Given the description of an element on the screen output the (x, y) to click on. 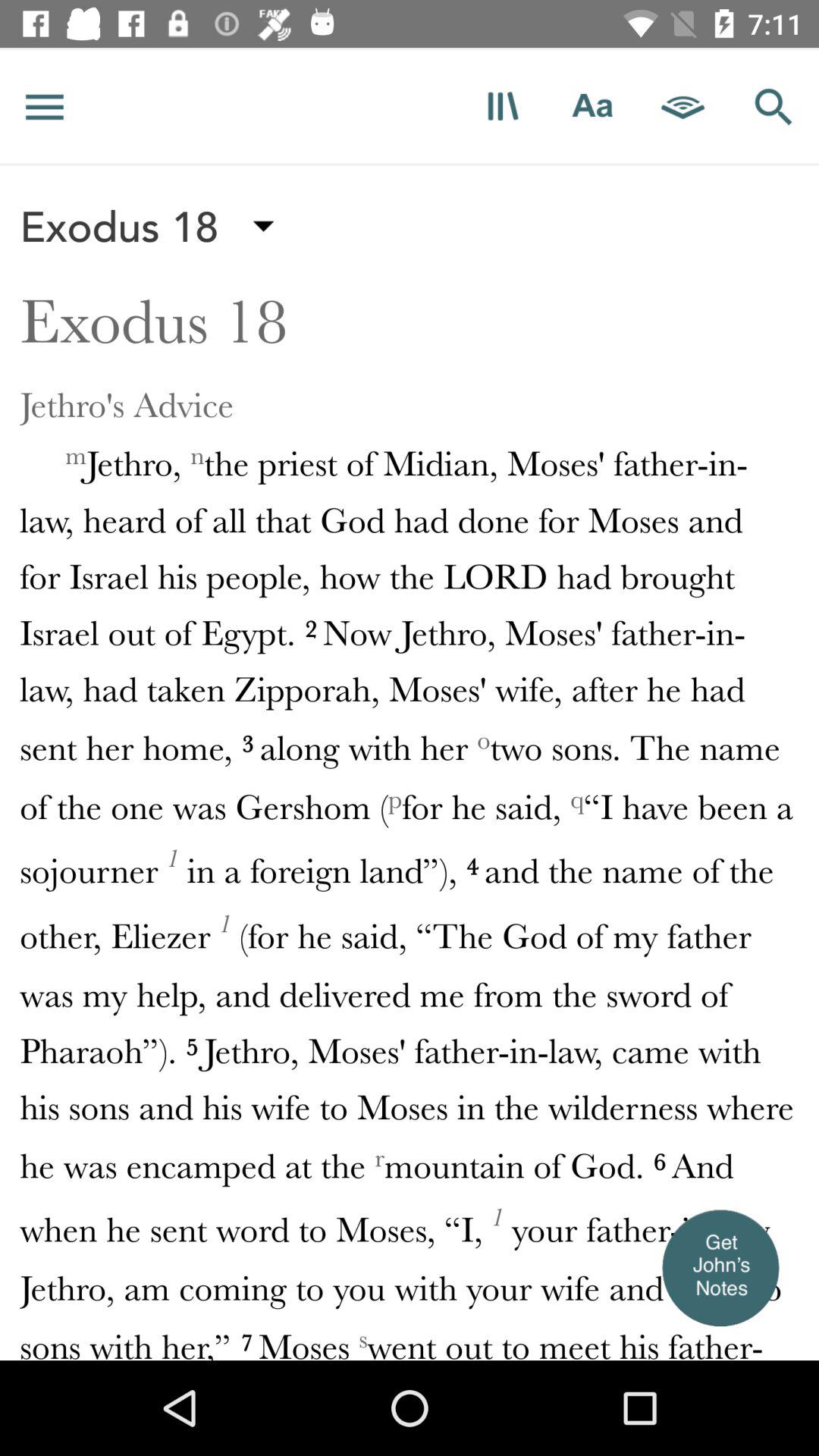
press exodus 17 water icon (409, 47)
